Given the description of an element on the screen output the (x, y) to click on. 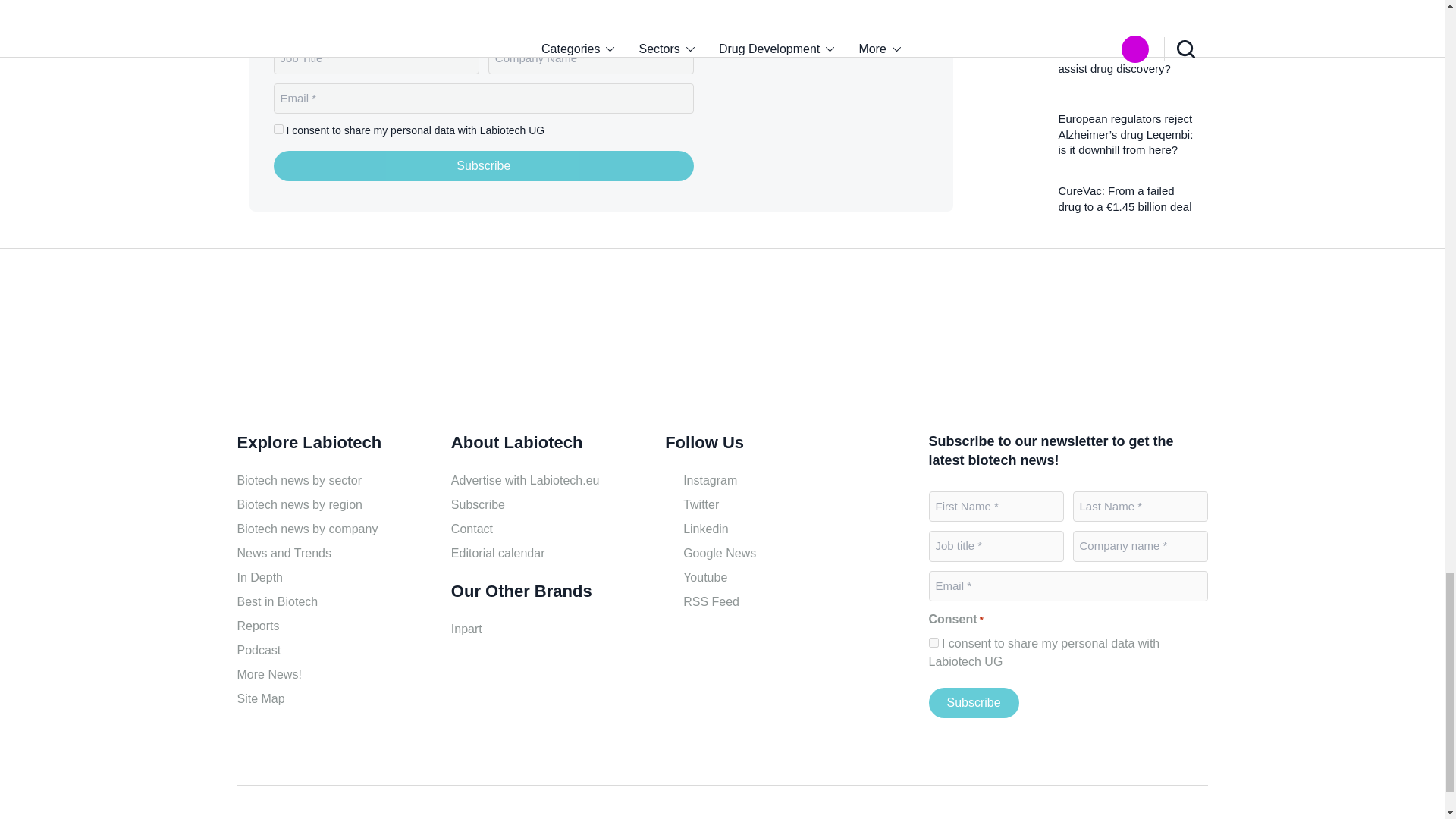
Labiotech.eu (834, 106)
Subscribe (972, 702)
Subscribe (483, 165)
1 (932, 642)
1 (277, 129)
Labiotech.eu (309, 346)
